Given the description of an element on the screen output the (x, y) to click on. 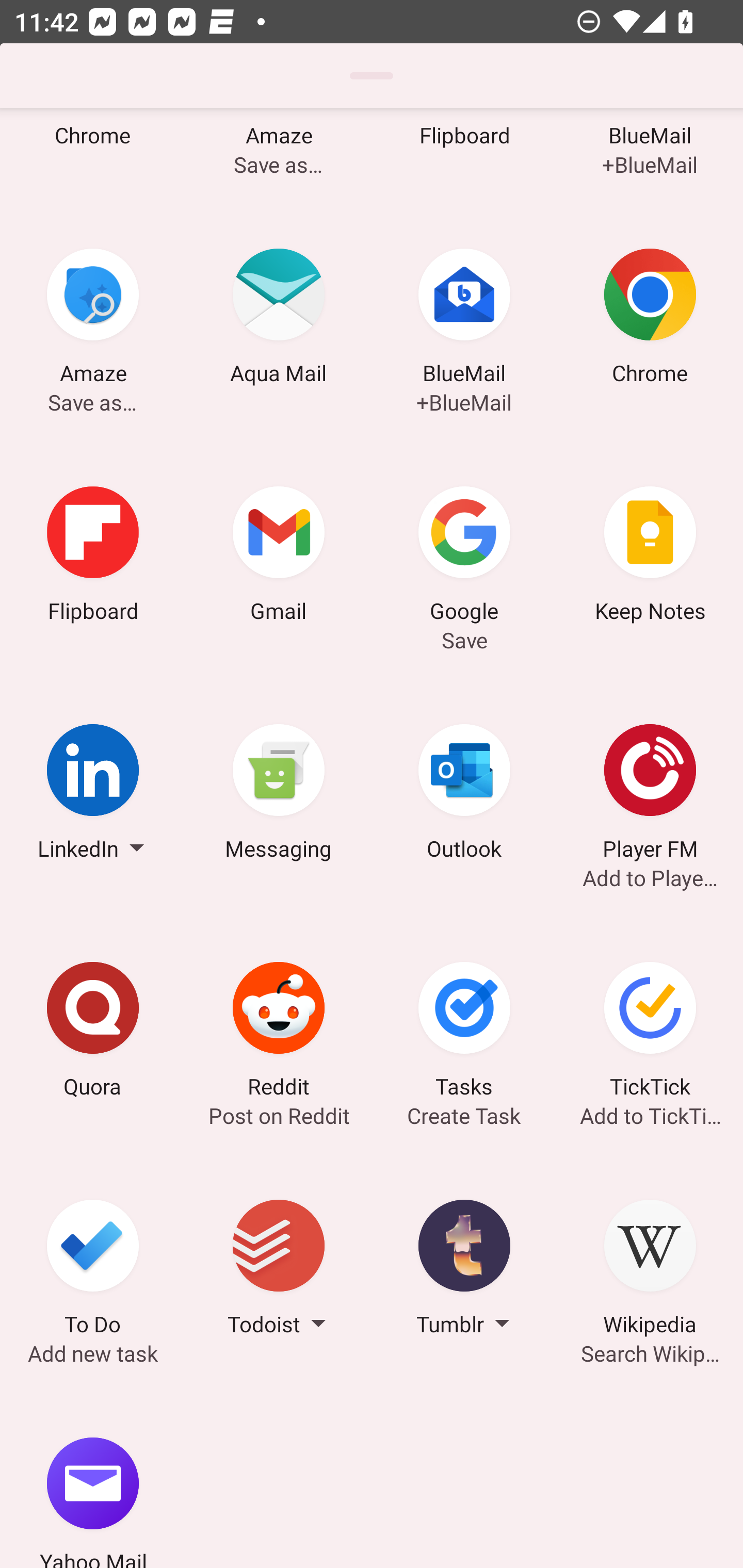
Chrome (92, 154)
Amaze Save as… (278, 154)
Flipboard (464, 154)
BlueMail +BlueMail (650, 154)
Amaze Save as… (92, 319)
Aqua Mail (278, 319)
BlueMail +BlueMail (464, 319)
Chrome (650, 319)
Flipboard (92, 557)
Gmail (278, 557)
Google Save (464, 557)
Keep Notes (650, 557)
LinkedIn (92, 794)
Messaging (278, 794)
Outlook (464, 794)
Player FM Add to Player FM (650, 794)
Quora (92, 1033)
Reddit Post on Reddit (278, 1033)
Tasks Create Task (464, 1033)
TickTick Add to TickTick (650, 1033)
To Do Add new task (92, 1270)
Todoist (278, 1270)
Tumblr (464, 1270)
Wikipedia Search Wikipedia (650, 1270)
Yahoo Mail (92, 1478)
